Given the description of an element on the screen output the (x, y) to click on. 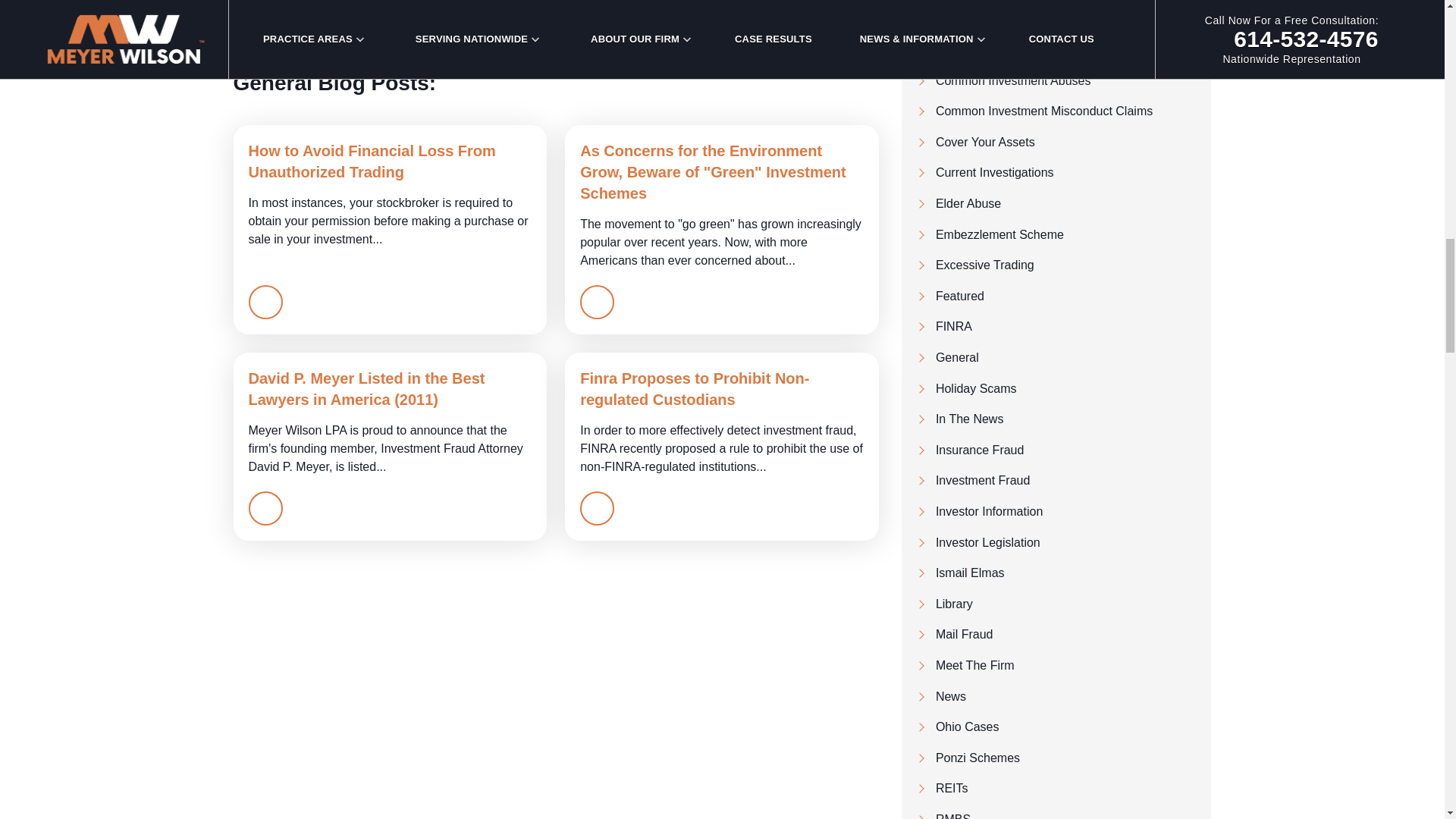
As Concerns for the Environment Grow, Beware of  (721, 229)
How to Avoid Financial Loss From Unauthorized Trading (389, 229)
